Given the description of an element on the screen output the (x, y) to click on. 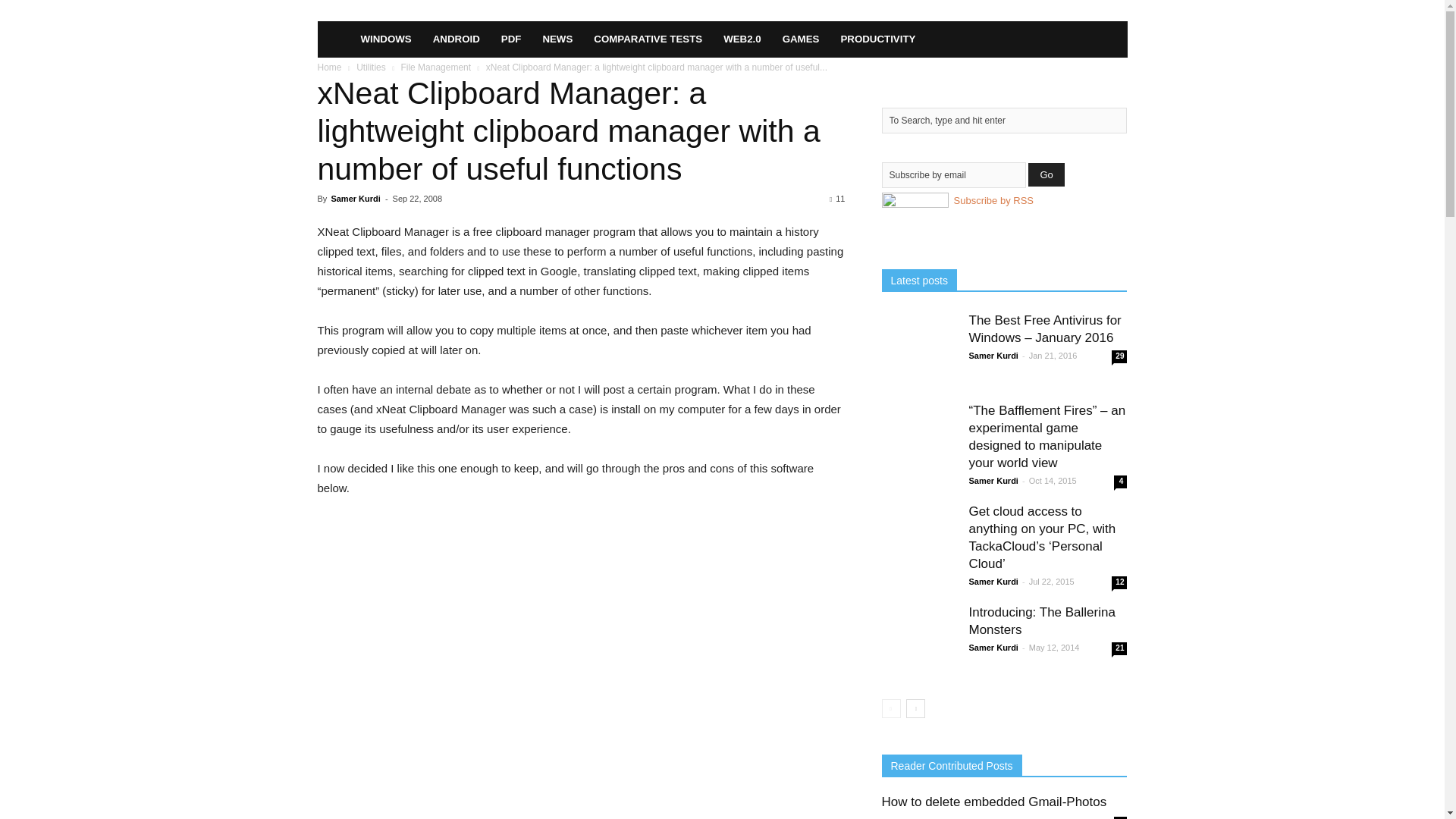
Go (1045, 174)
Subscribe by email (952, 175)
To Search, type and hit enter (1003, 120)
To Search, type and hit enter (1003, 120)
